Given the description of an element on the screen output the (x, y) to click on. 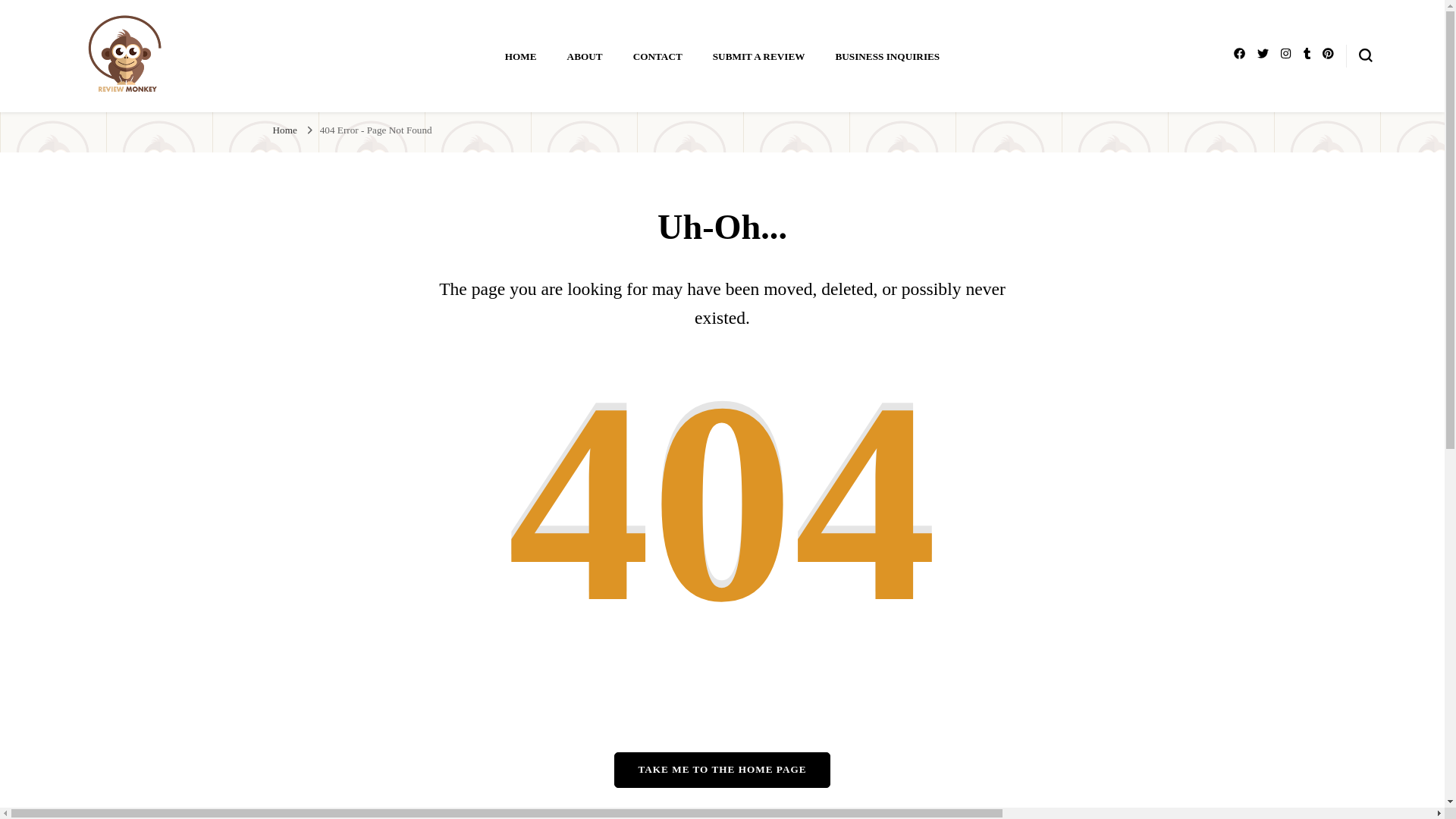
SUBMIT A REVIEW (759, 55)
HOME (521, 55)
Home (285, 129)
TAKE ME TO THE HOME PAGE (721, 769)
Review Monkey (157, 114)
CONTACT (657, 55)
ABOUT (584, 55)
BUSINESS INQUIRIES (886, 55)
